Given the description of an element on the screen output the (x, y) to click on. 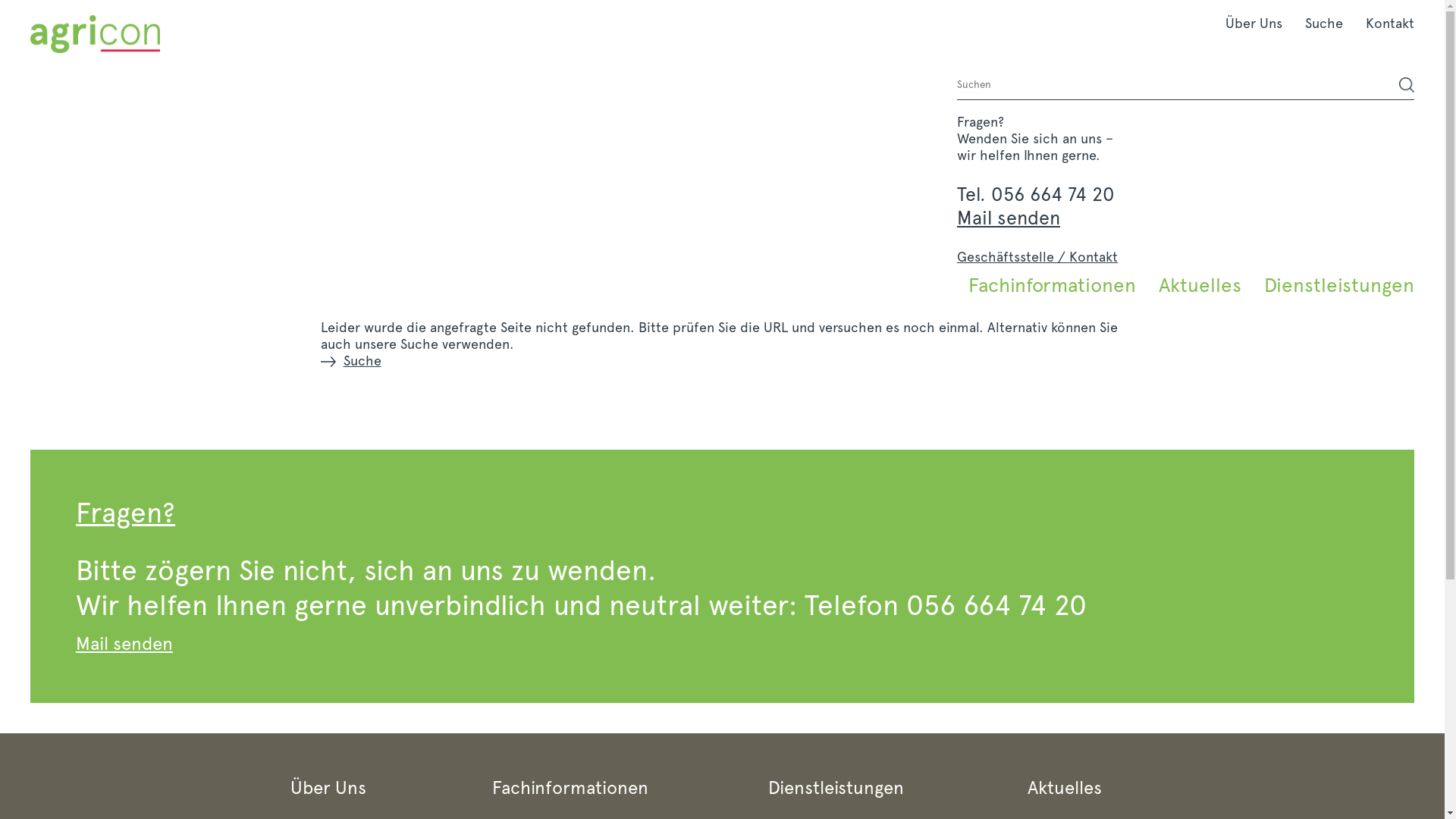
Suche Element type: text (350, 360)
Mail senden Element type: text (1008, 217)
Dienstleistungen Element type: text (1333, 284)
Kontakt Element type: text (1384, 23)
Mail senden Element type: text (123, 643)
Aktuelles Element type: text (1199, 284)
Fachinformationen Element type: text (1052, 284)
Suche Element type: text (1323, 23)
